Given the description of an element on the screen output the (x, y) to click on. 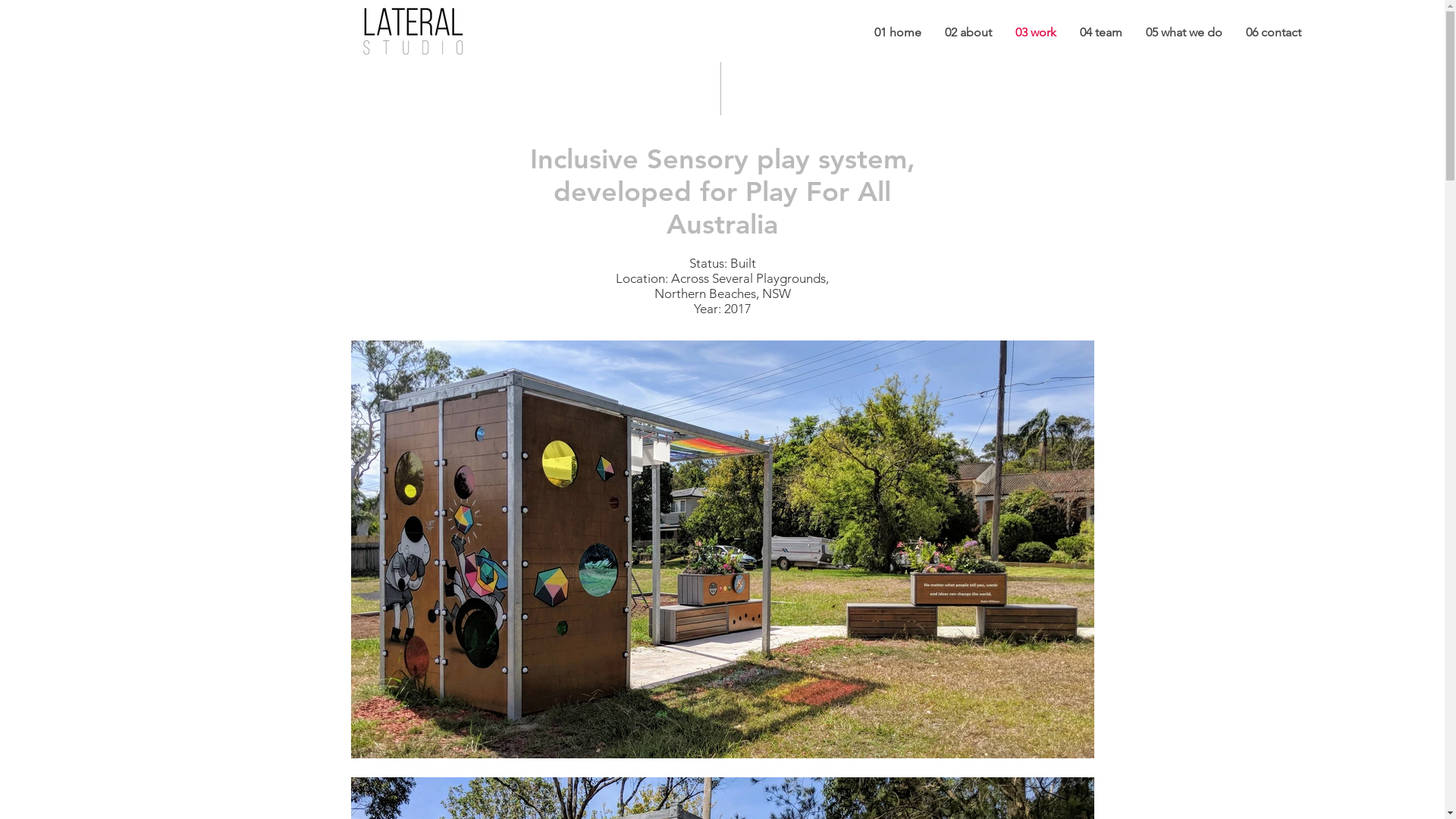
04 team Element type: text (1100, 32)
03 work Element type: text (1035, 32)
06 contact Element type: text (1272, 32)
05 what we do Element type: text (1183, 32)
02 about Element type: text (967, 32)
01 home Element type: text (897, 32)
